Given the description of an element on the screen output the (x, y) to click on. 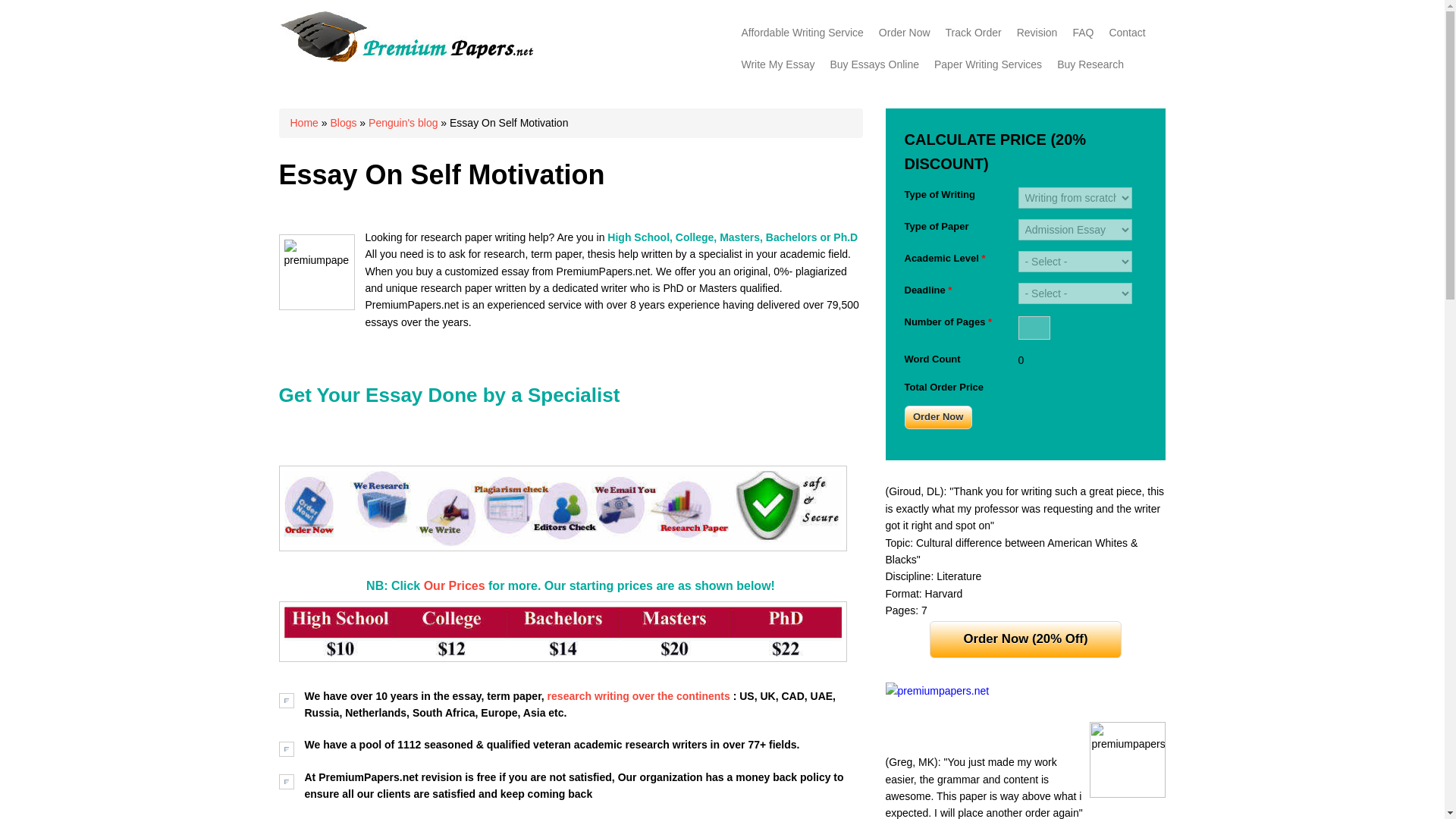
Penguin's blog (403, 122)
Buy Research (1090, 64)
Contact (1126, 32)
FAQ (1082, 32)
Home (406, 58)
Revision (1037, 32)
Affordable Writing Service (801, 32)
research writing over the continents (640, 695)
Order Now (937, 417)
Order Now (903, 32)
